Given the description of an element on the screen output the (x, y) to click on. 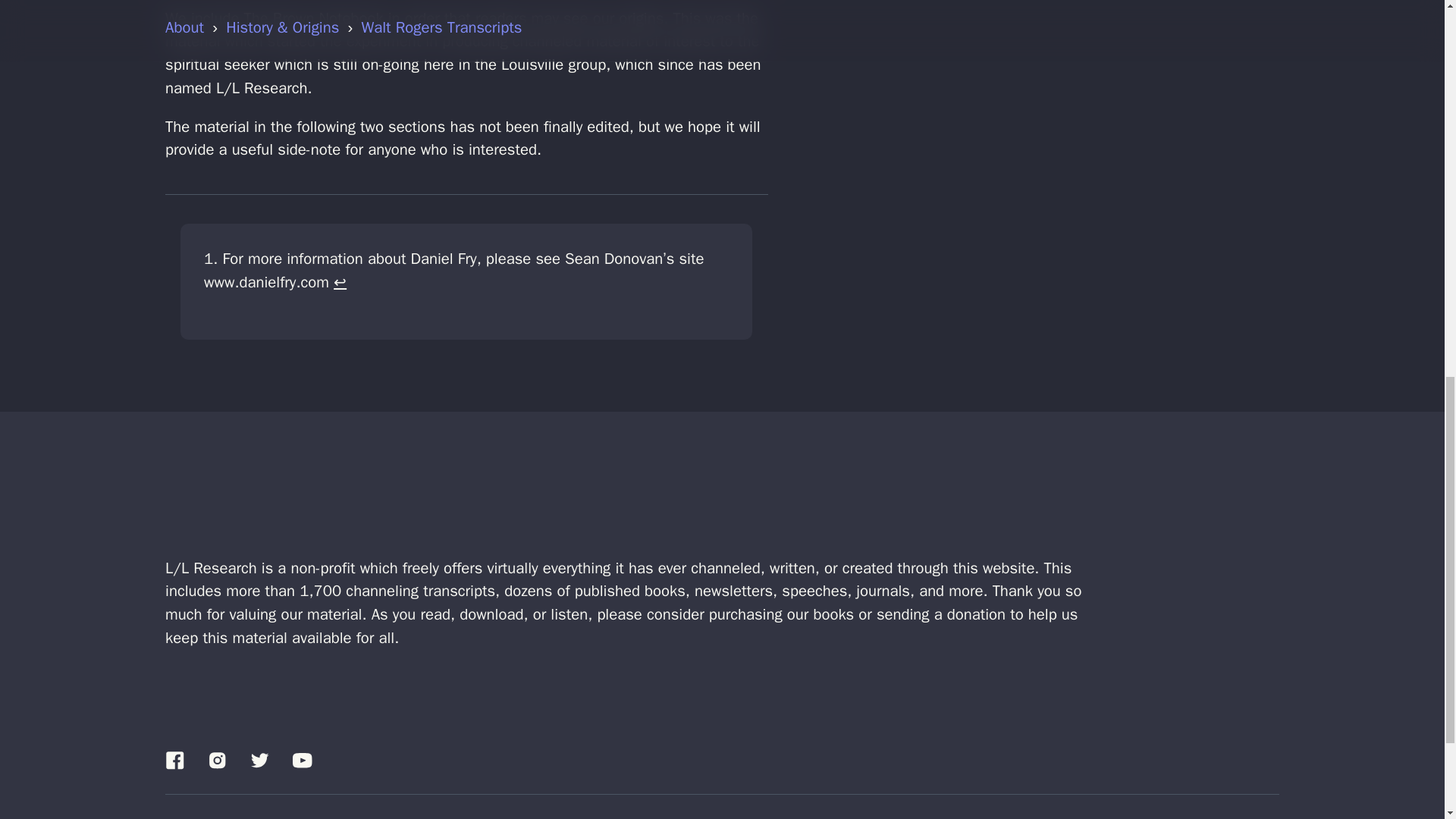
Instagram (217, 760)
Facebook (174, 760)
YouTube (301, 760)
Twitter (259, 760)
